Given the description of an element on the screen output the (x, y) to click on. 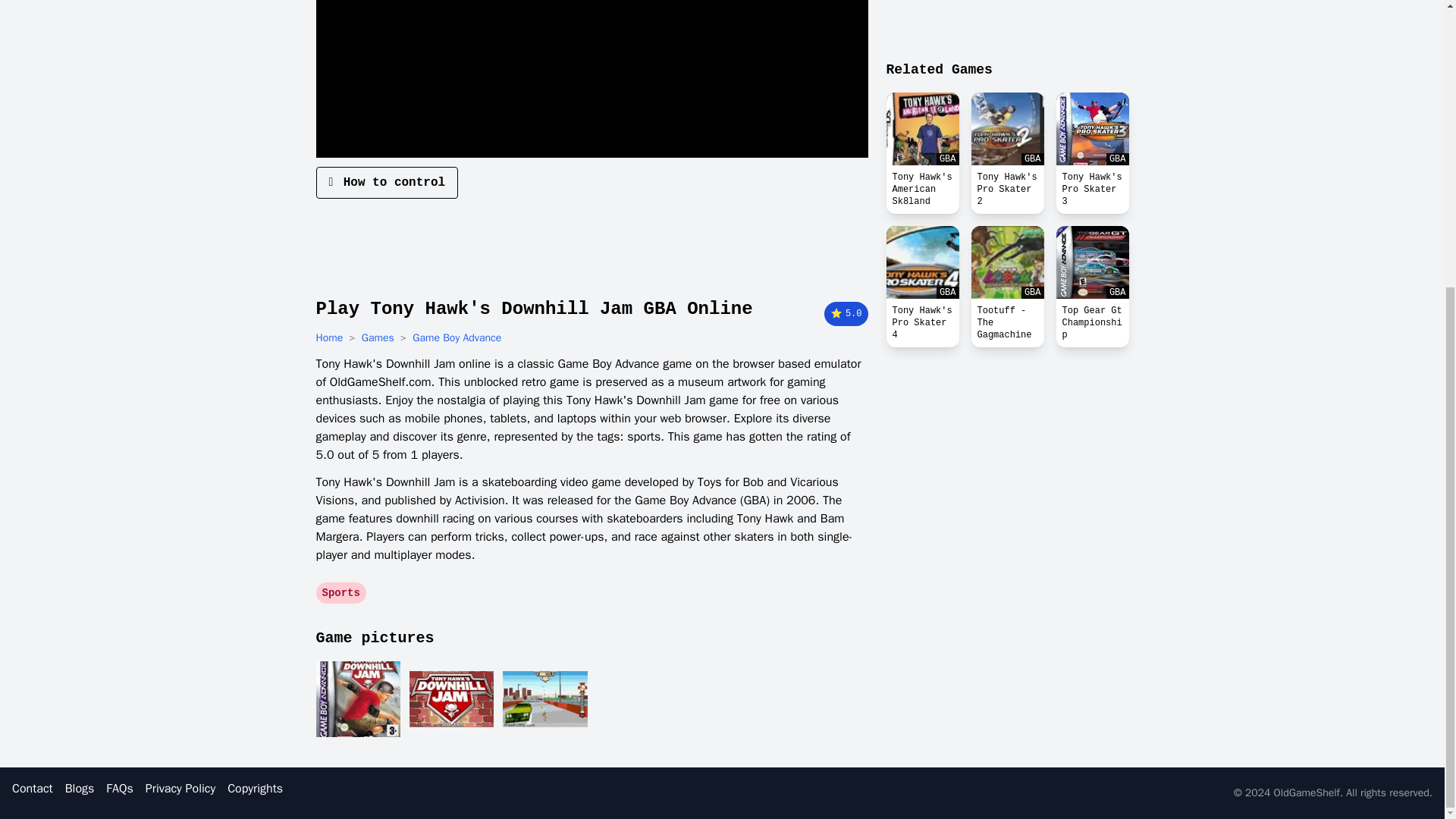
Tony Hawk's Pro Skater 2 (1007, 128)
GBA (1007, 128)
Game Boy Advance (456, 337)
Tony Hawk's American Sk8land (921, 128)
Contact (31, 788)
Games (377, 337)
Blogs (79, 788)
GBA (921, 262)
Home (328, 337)
Tony Hawk's Pro Skater 2 (1007, 189)
